Given the description of an element on the screen output the (x, y) to click on. 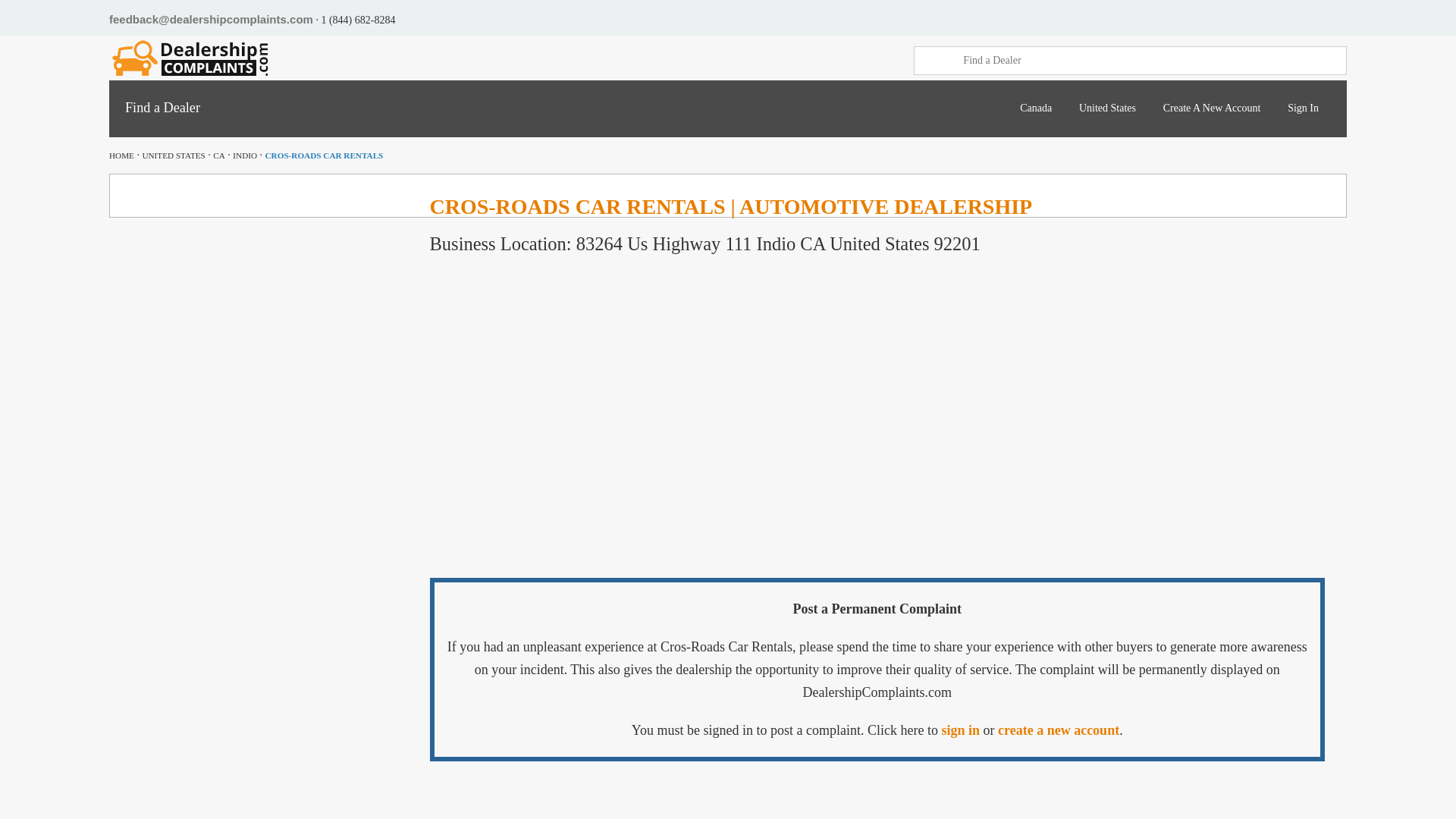
Find a Dealer (1150, 60)
Canada (1035, 108)
HOME (121, 154)
sign in (959, 729)
Create A New Account (1211, 108)
CROS-ROADS CAR RENTALS (324, 154)
Sign In (1302, 108)
United States (1107, 108)
CA (218, 154)
UNITED STATES (173, 154)
create a new account (1058, 729)
INDIO (244, 154)
